Given the description of an element on the screen output the (x, y) to click on. 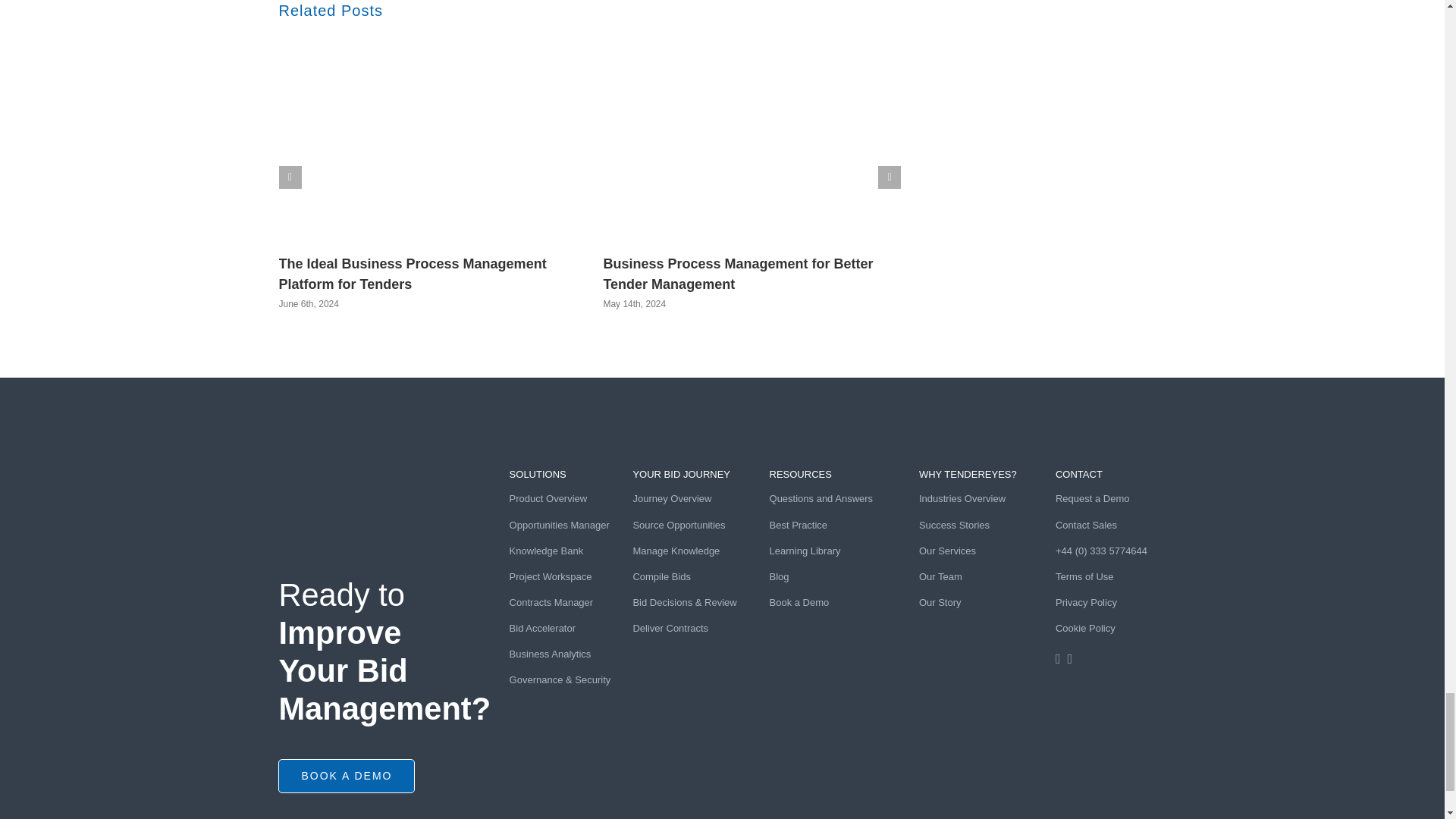
Business Process Management for Better Tender Management (737, 273)
The Ideal Business Process Management Platform for Tenders (413, 273)
